Given the description of an element on the screen output the (x, y) to click on. 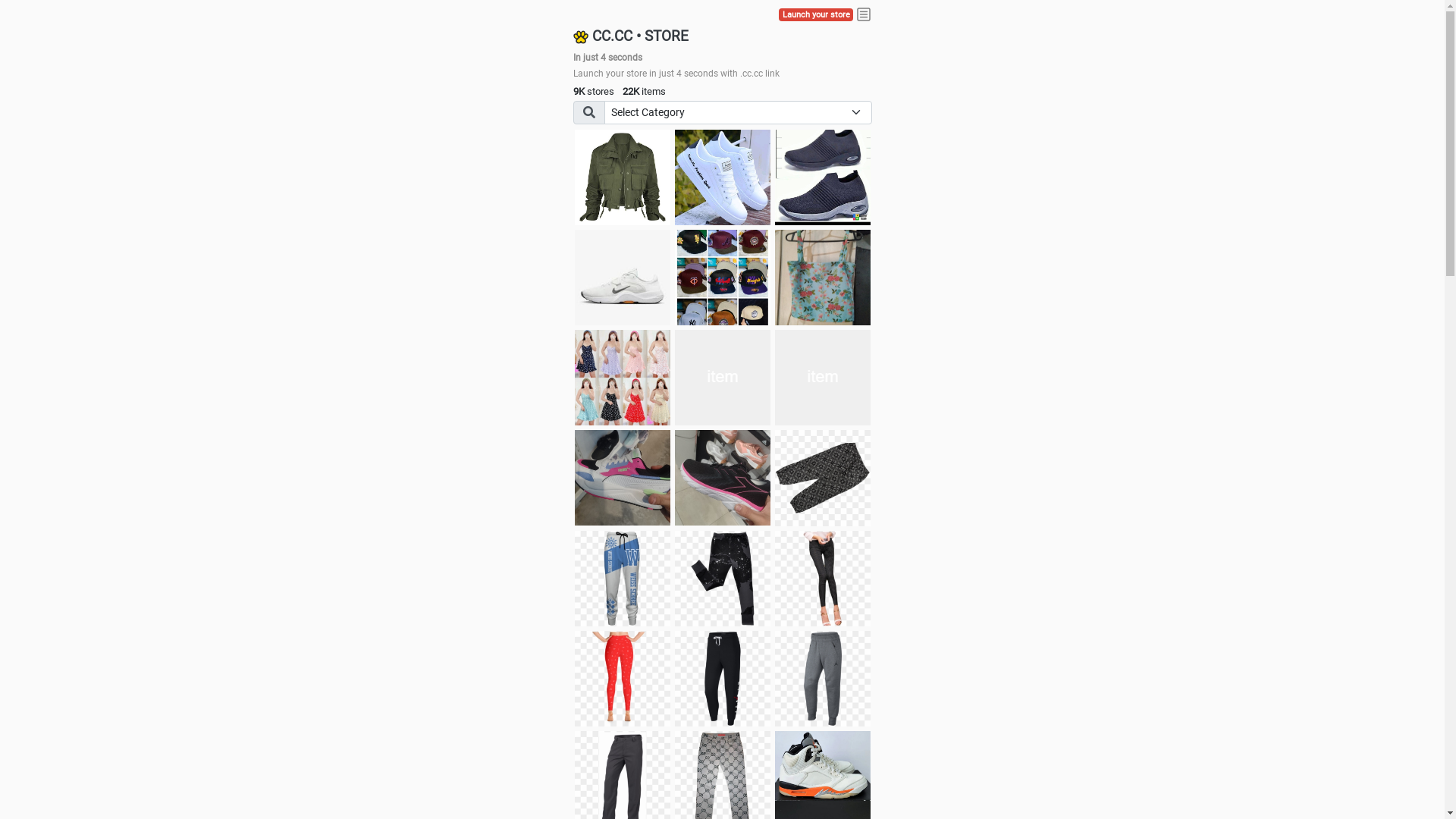
Pant Element type: hover (722, 578)
Dress/square nect top Element type: hover (622, 377)
Pant Element type: hover (722, 678)
Zapatillas Element type: hover (722, 477)
Pant Element type: hover (622, 678)
Pant Element type: hover (822, 578)
Shoes for boys Element type: hover (622, 277)
white shoes Element type: hover (722, 177)
Pant Element type: hover (822, 678)
Zapatillas pumas Element type: hover (622, 477)
Things we need Element type: hover (722, 277)
Shoes Element type: hover (722, 377)
Launch your store Element type: text (815, 14)
shoes for boys Element type: hover (822, 177)
Ukay cloth Element type: hover (822, 277)
Pant Element type: hover (622, 578)
jacket Element type: hover (622, 177)
Short pant Element type: hover (822, 477)
